Given the description of an element on the screen output the (x, y) to click on. 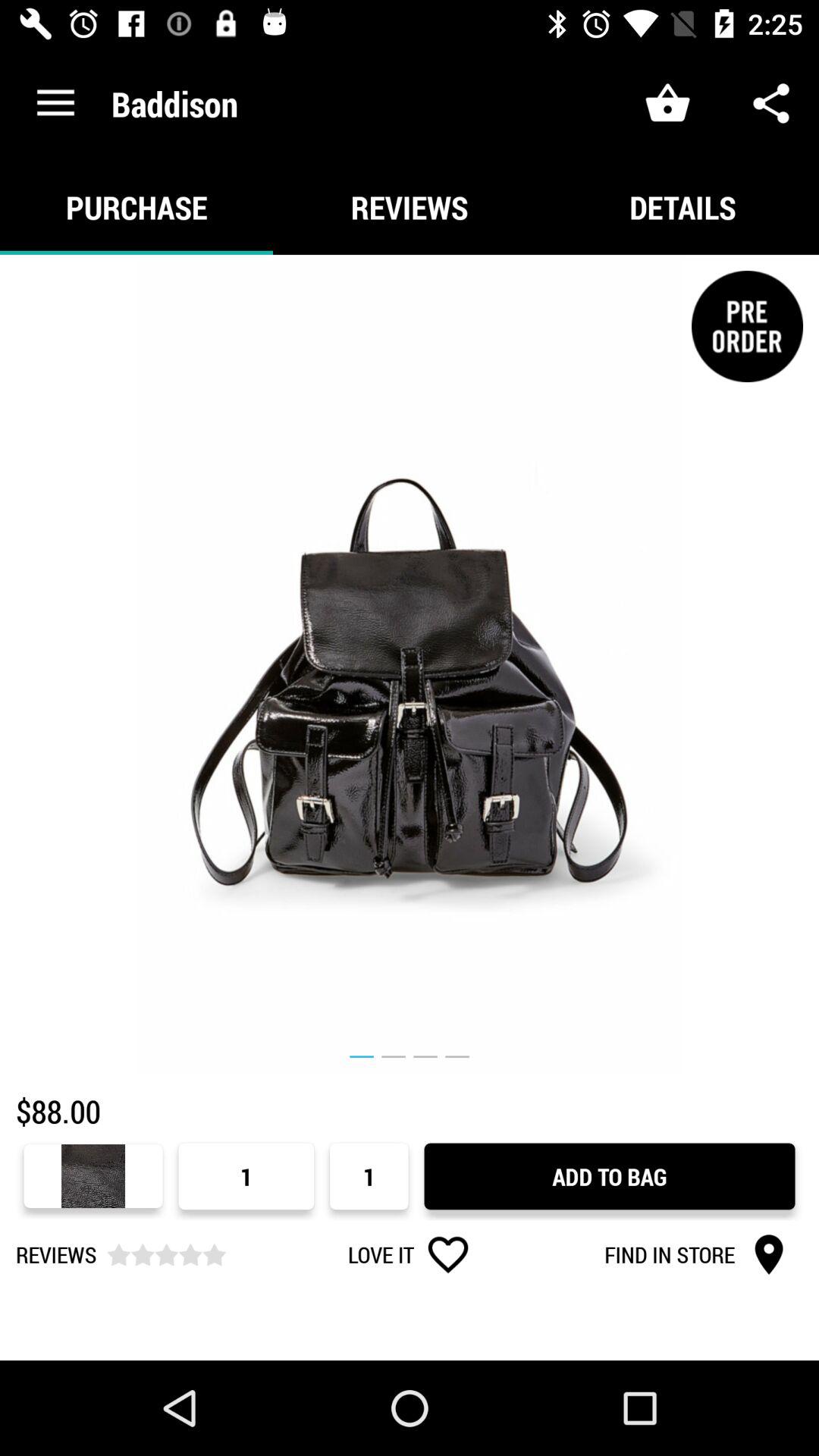
launch icon above the $88.00 icon (409, 663)
